Given the description of an element on the screen output the (x, y) to click on. 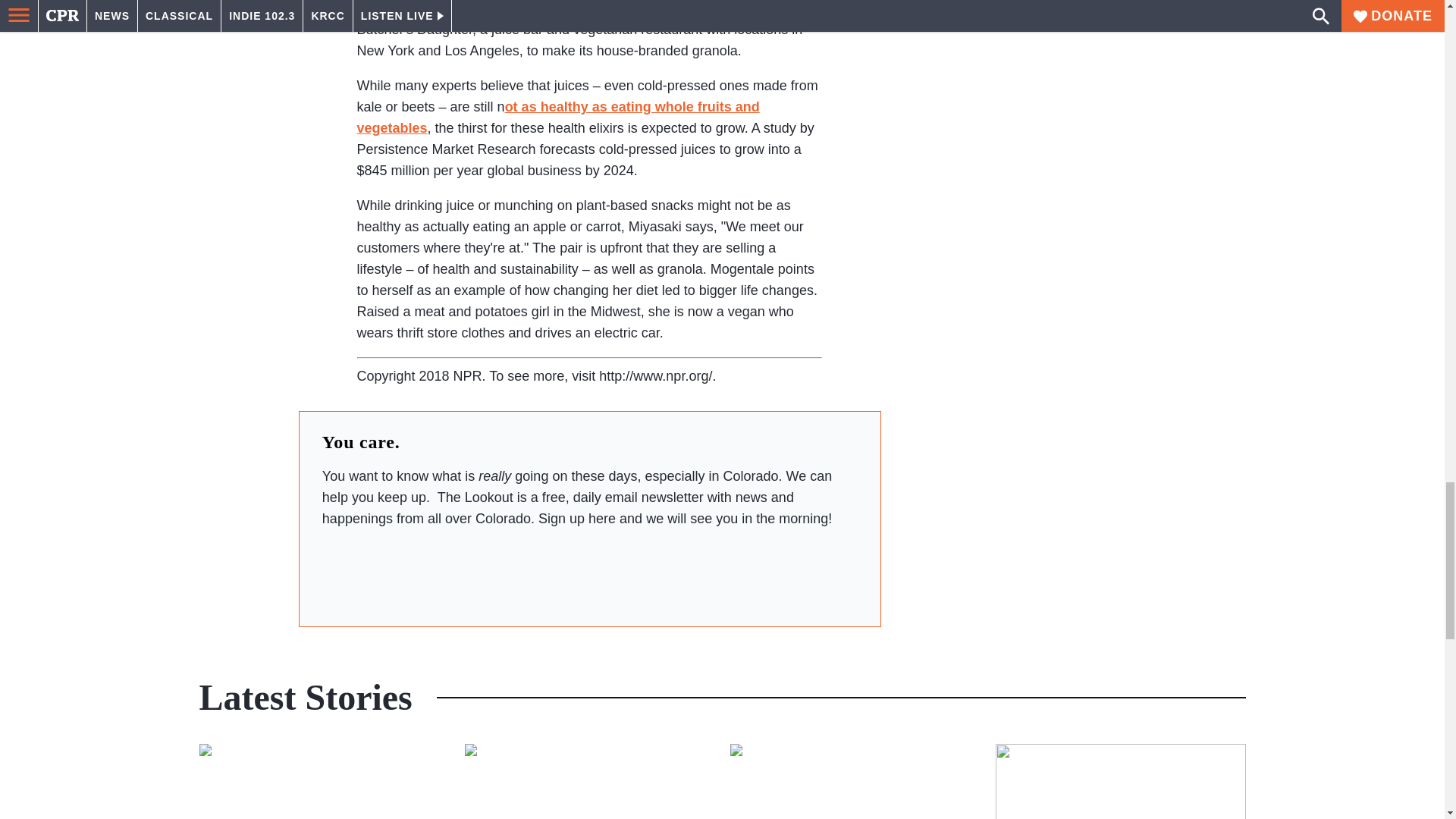
newsArticleSignup (589, 571)
